Given the description of an element on the screen output the (x, y) to click on. 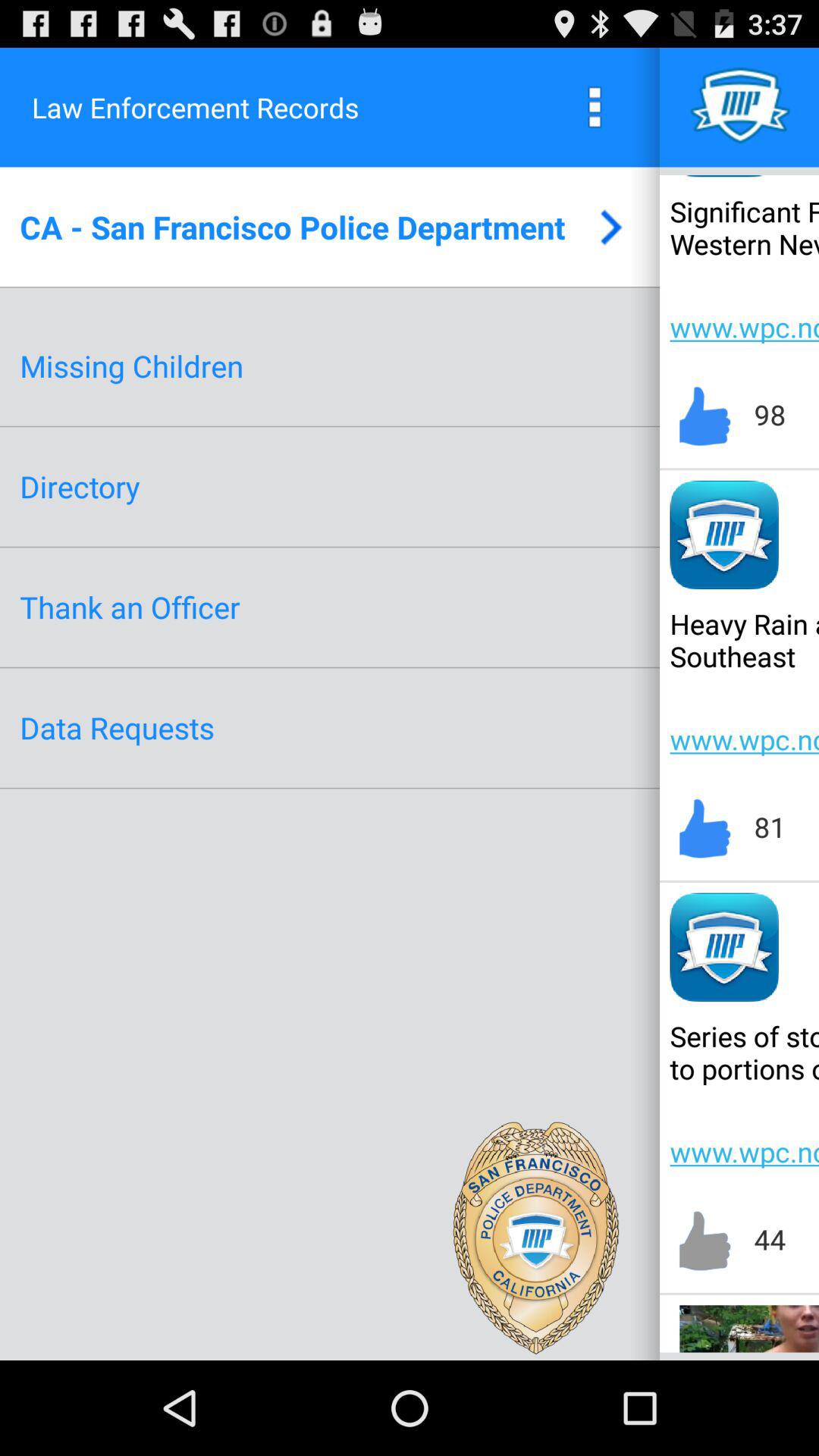
tap the missing children (131, 365)
